Given the description of an element on the screen output the (x, y) to click on. 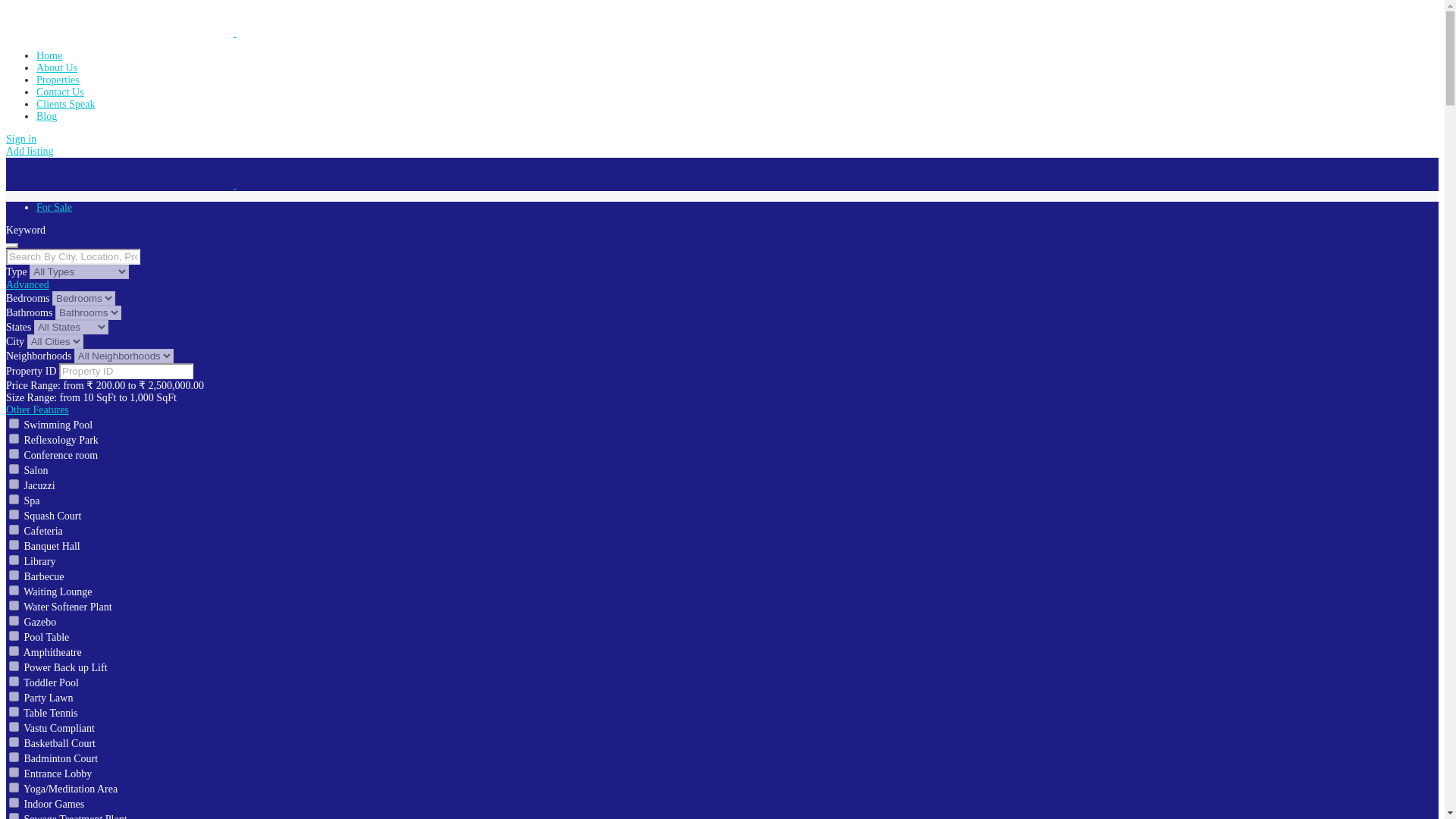
pool-table (13, 635)
swimming-pool (13, 423)
Sign in (20, 138)
Blog (46, 116)
gazebo (13, 620)
spa (13, 499)
Home (49, 55)
Other Features (36, 409)
About Us (56, 67)
jacuzzi (13, 483)
